Given the description of an element on the screen output the (x, y) to click on. 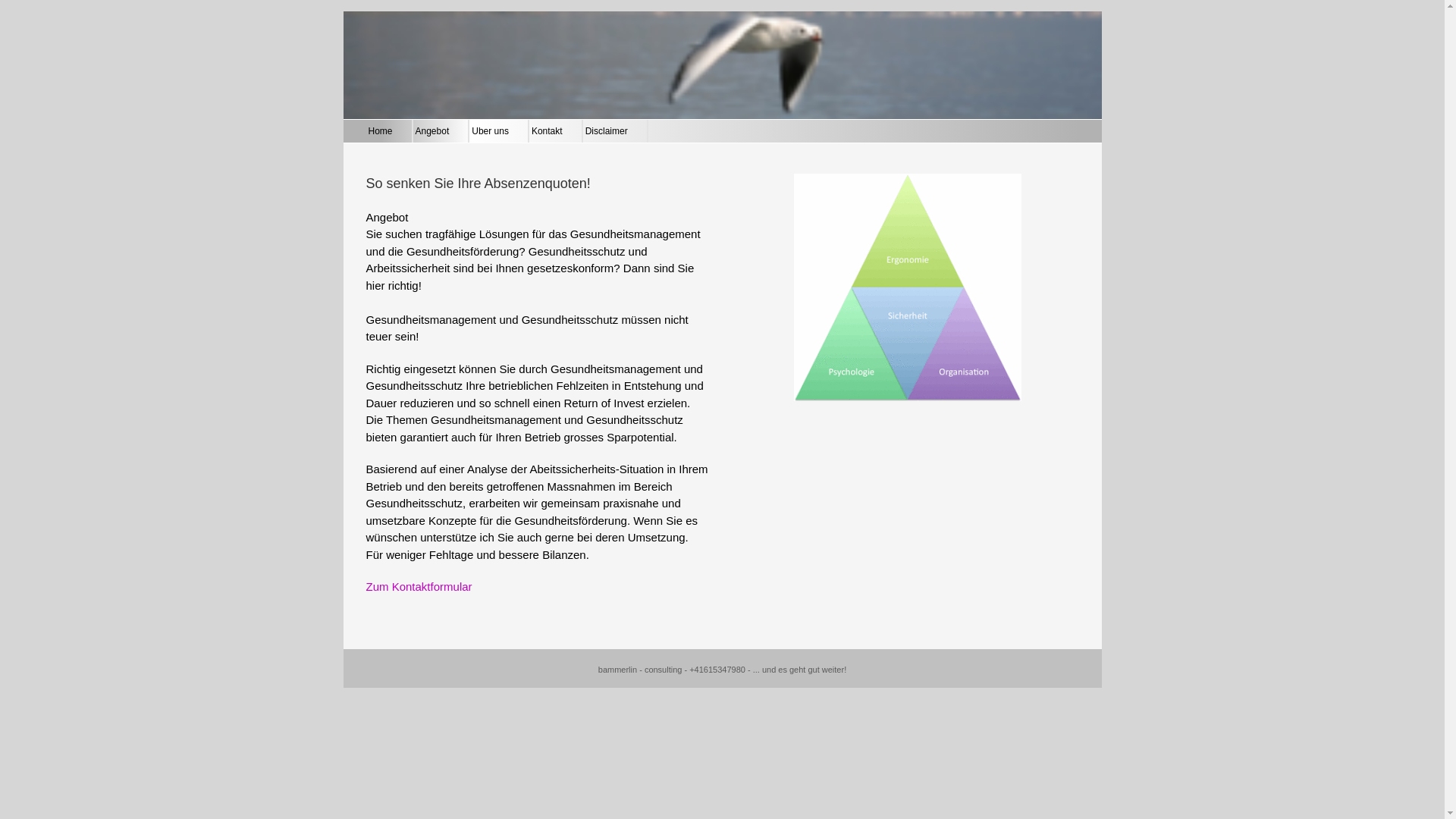
Angebot Element type: text (432, 130)
Home Element type: text (380, 130)
pyramide-klein Element type: hover (907, 287)
Disclaimer Element type: text (606, 130)
Zum Kontaktformular Element type: text (418, 586)
Uber uns Element type: text (489, 130)
Kontakt Element type: text (546, 130)
